Given the description of an element on the screen output the (x, y) to click on. 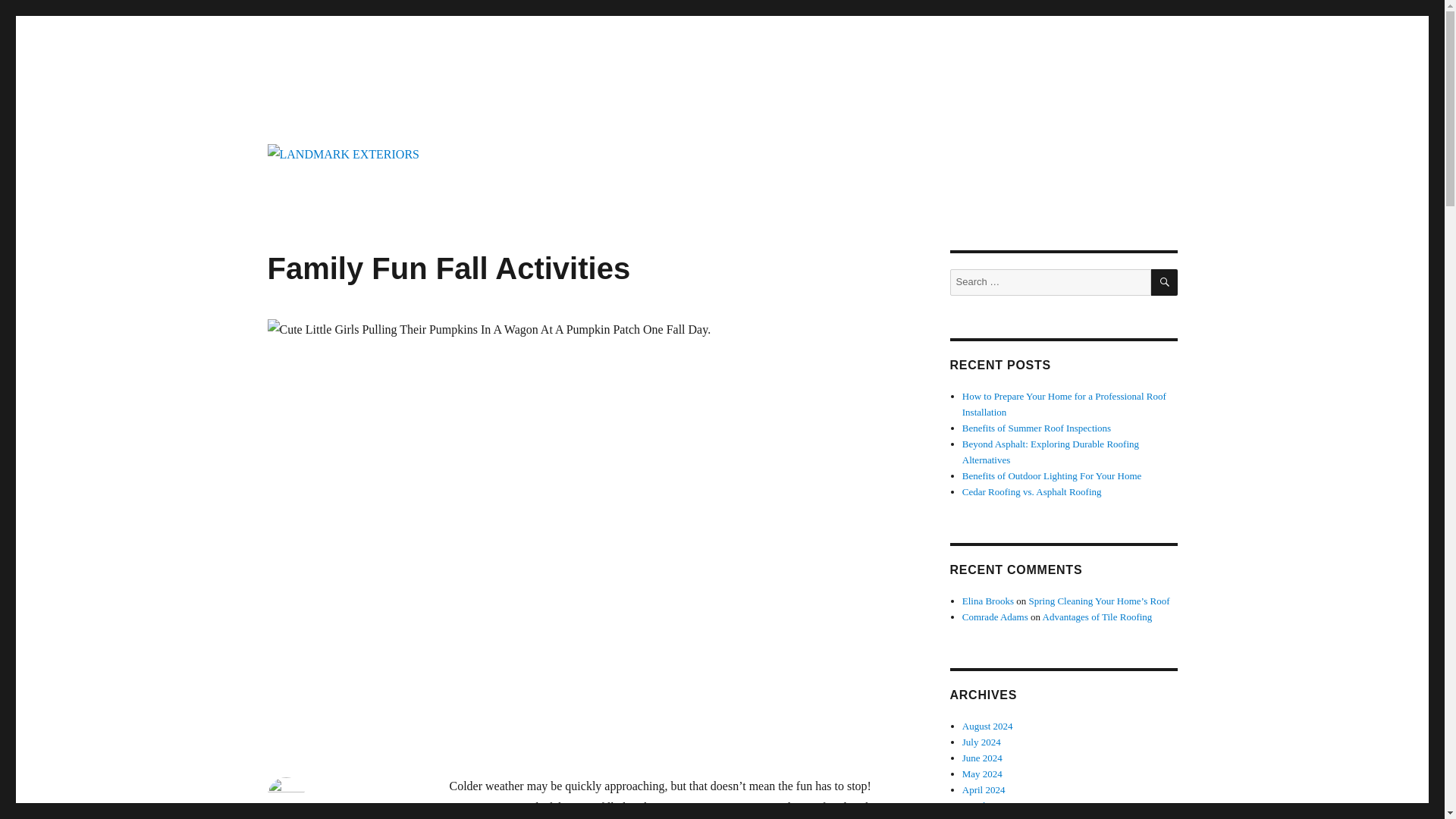
Beyond Asphalt: Exploring Durable Roofing Alternatives (1050, 452)
Comrade Adams (994, 616)
July 2024 (981, 741)
February 2024 (991, 817)
Benefits of Summer Roof Inspections (1036, 428)
Advantages of Tile Roofing (1097, 616)
SEARCH (1164, 282)
Benefits of Outdoor Lighting For Your Home (1051, 475)
April 2024 (984, 789)
